Given the description of an element on the screen output the (x, y) to click on. 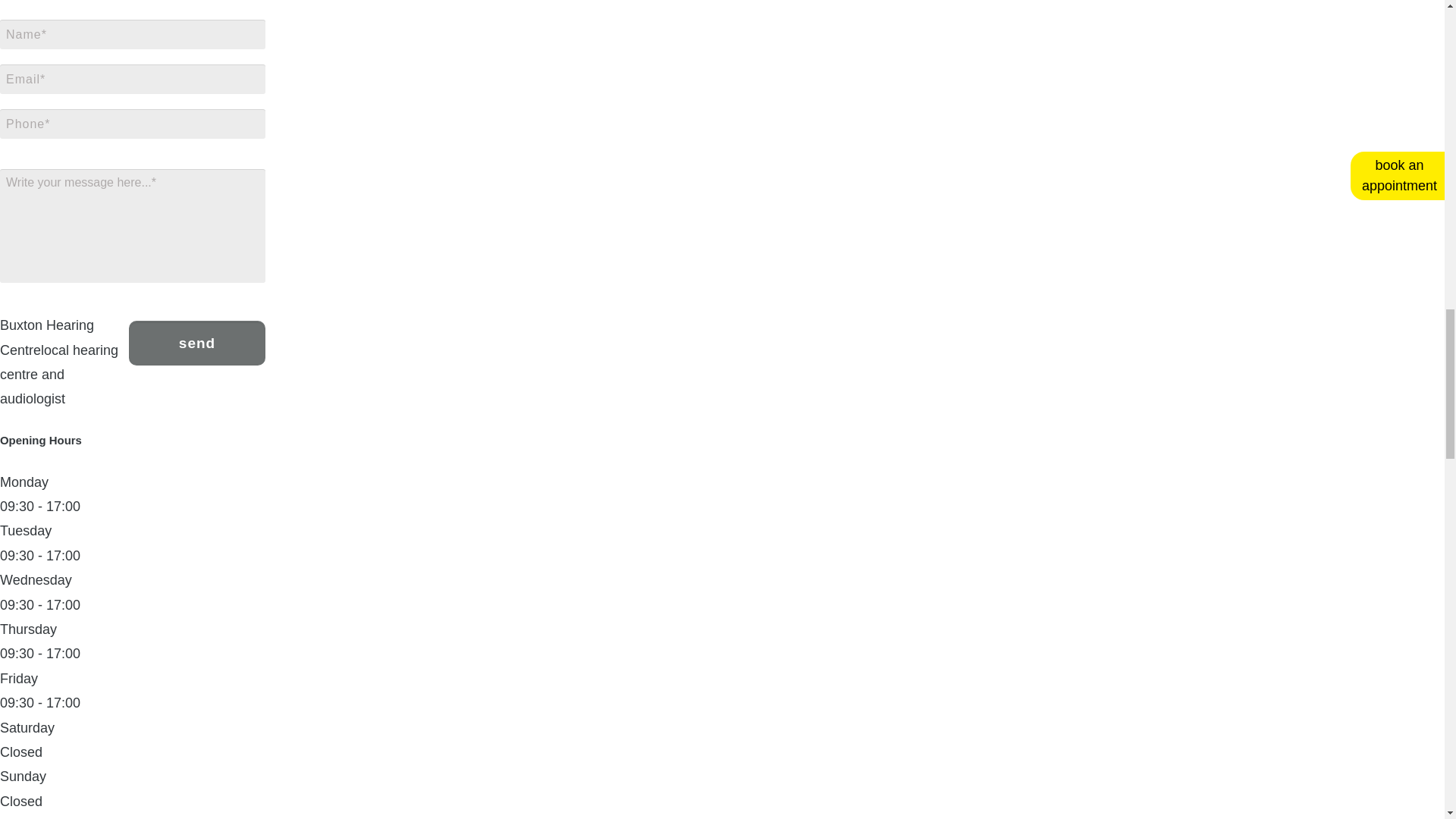
send (196, 343)
send (196, 343)
